Given the description of an element on the screen output the (x, y) to click on. 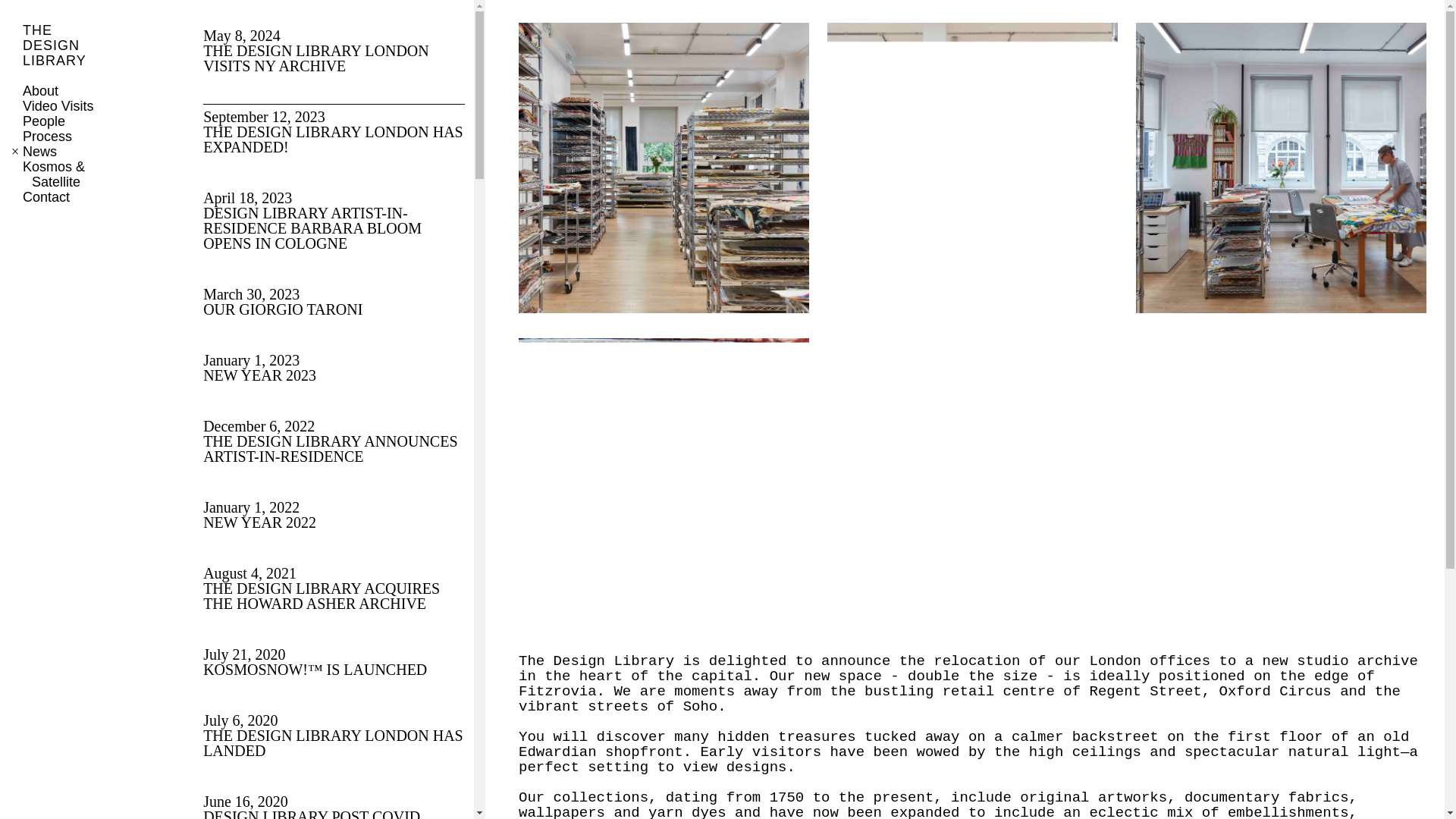
People (44, 120)
Contact (333, 732)
News (46, 196)
Video Visits (333, 129)
About (39, 151)
